Given the description of an element on the screen output the (x, y) to click on. 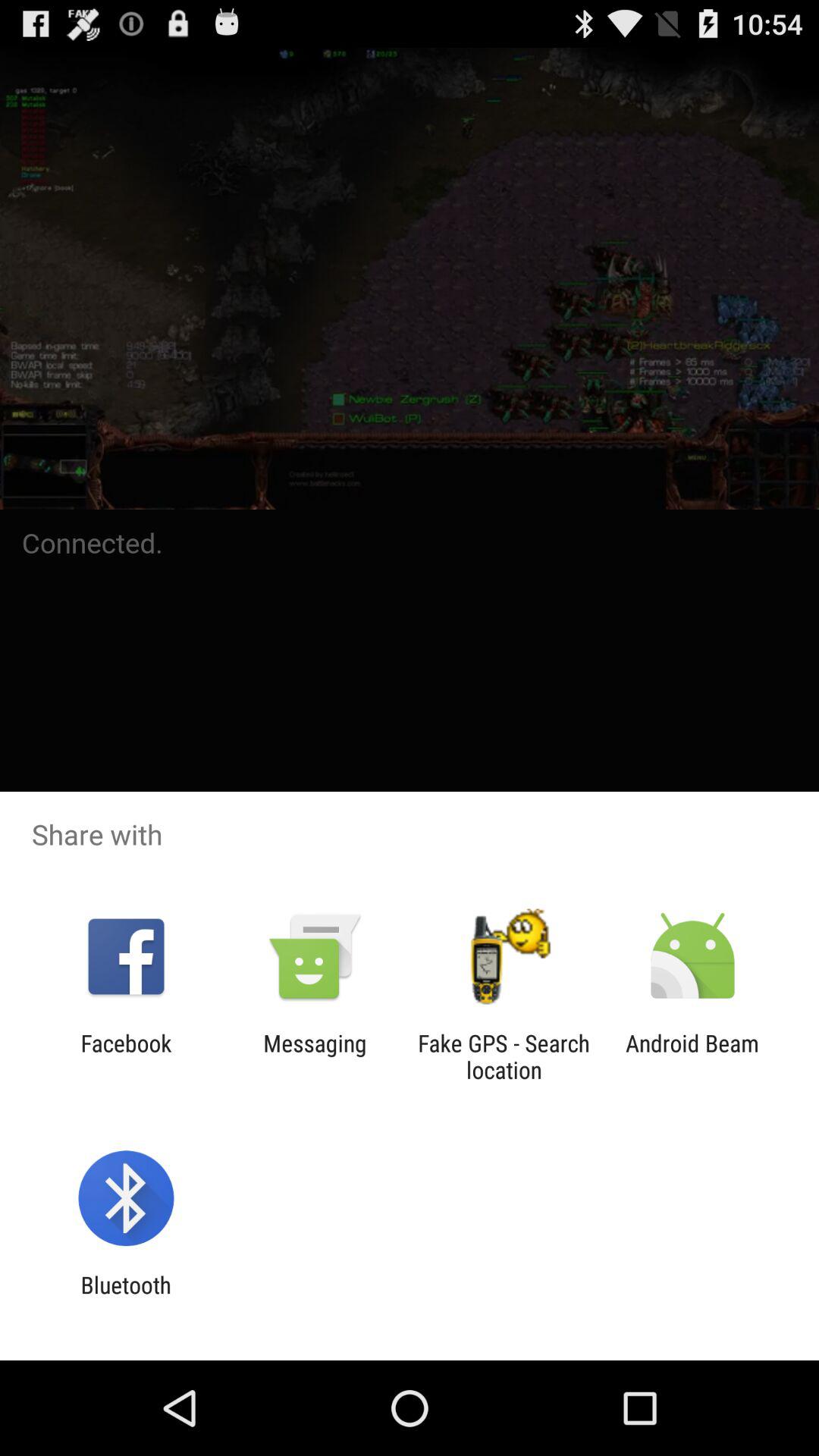
swipe until the bluetooth icon (125, 1298)
